Given the description of an element on the screen output the (x, y) to click on. 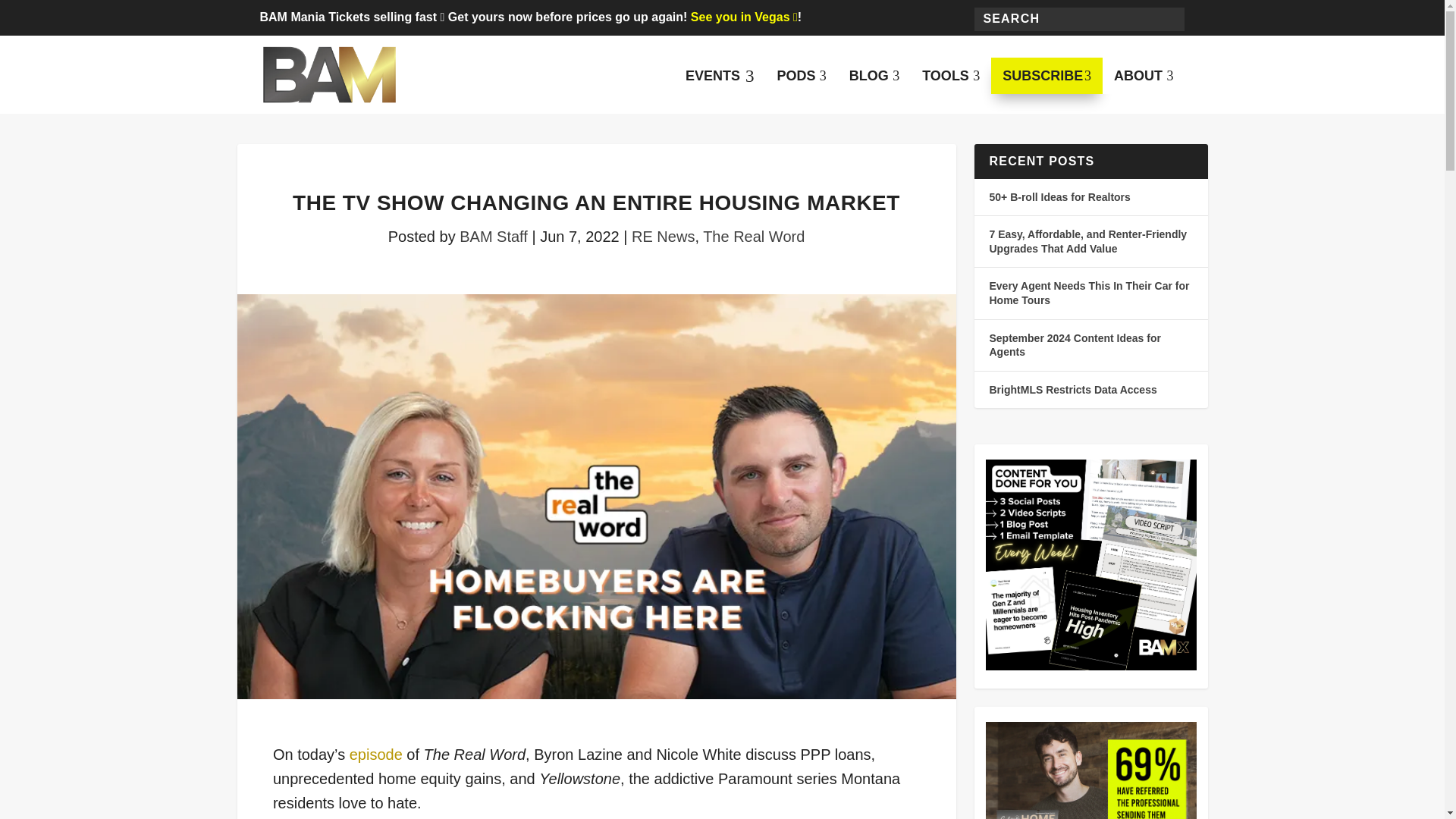
Posts by BAM Staff (719, 76)
Search (1046, 75)
